Given the description of an element on the screen output the (x, y) to click on. 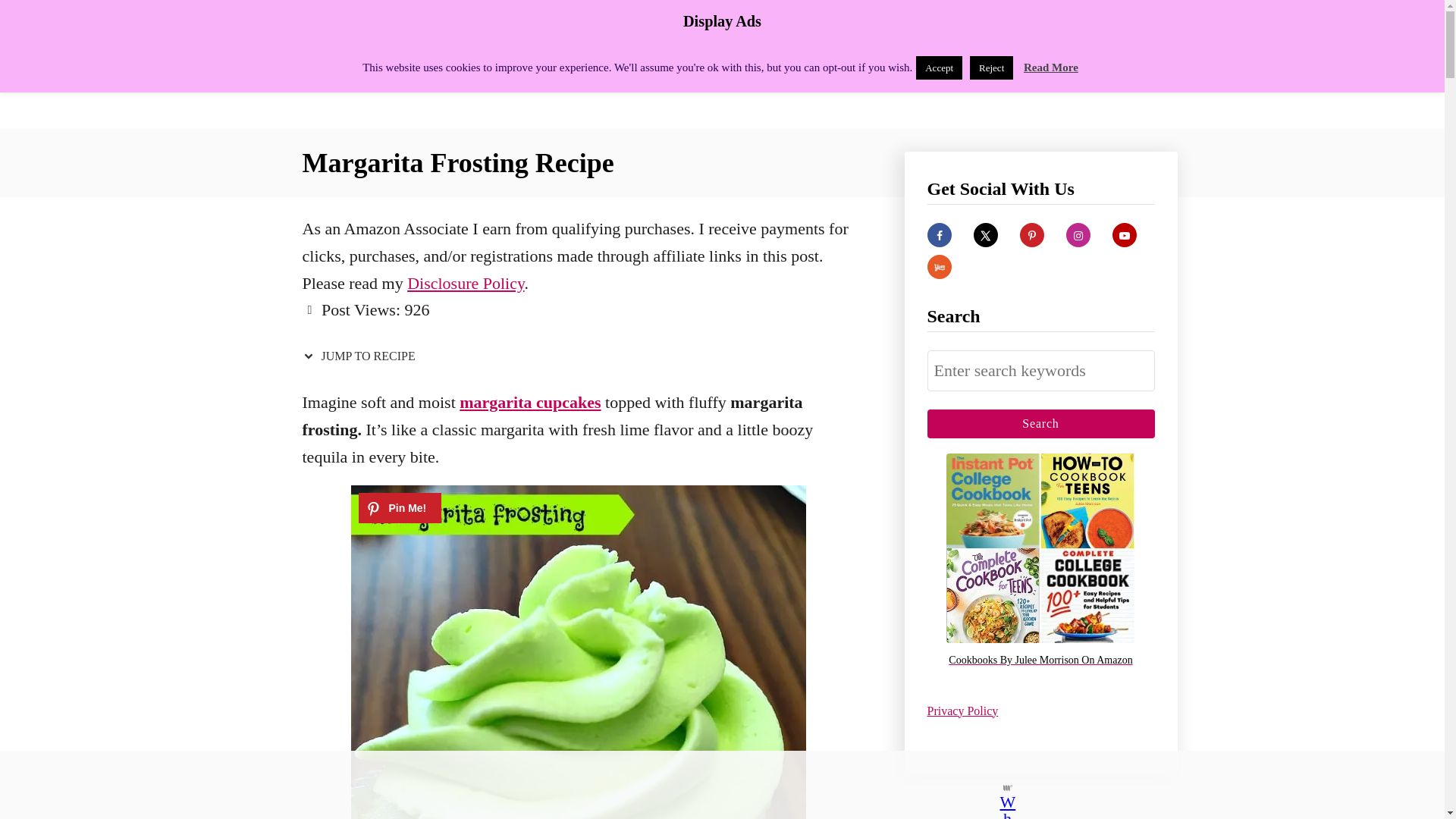
JUMP TO RECIPE (361, 356)
Mommy's Memorandum (433, 64)
Disclosure Policy (465, 281)
Follow on Pinterest (1031, 234)
Search (1040, 423)
margarita cupcakes (529, 402)
Search (1040, 423)
Follow on Instagram (1077, 234)
Pin Me! (399, 508)
Follow on YouTube (1124, 234)
Follow on X (985, 234)
Follow on Facebook (938, 234)
